Given the description of an element on the screen output the (x, y) to click on. 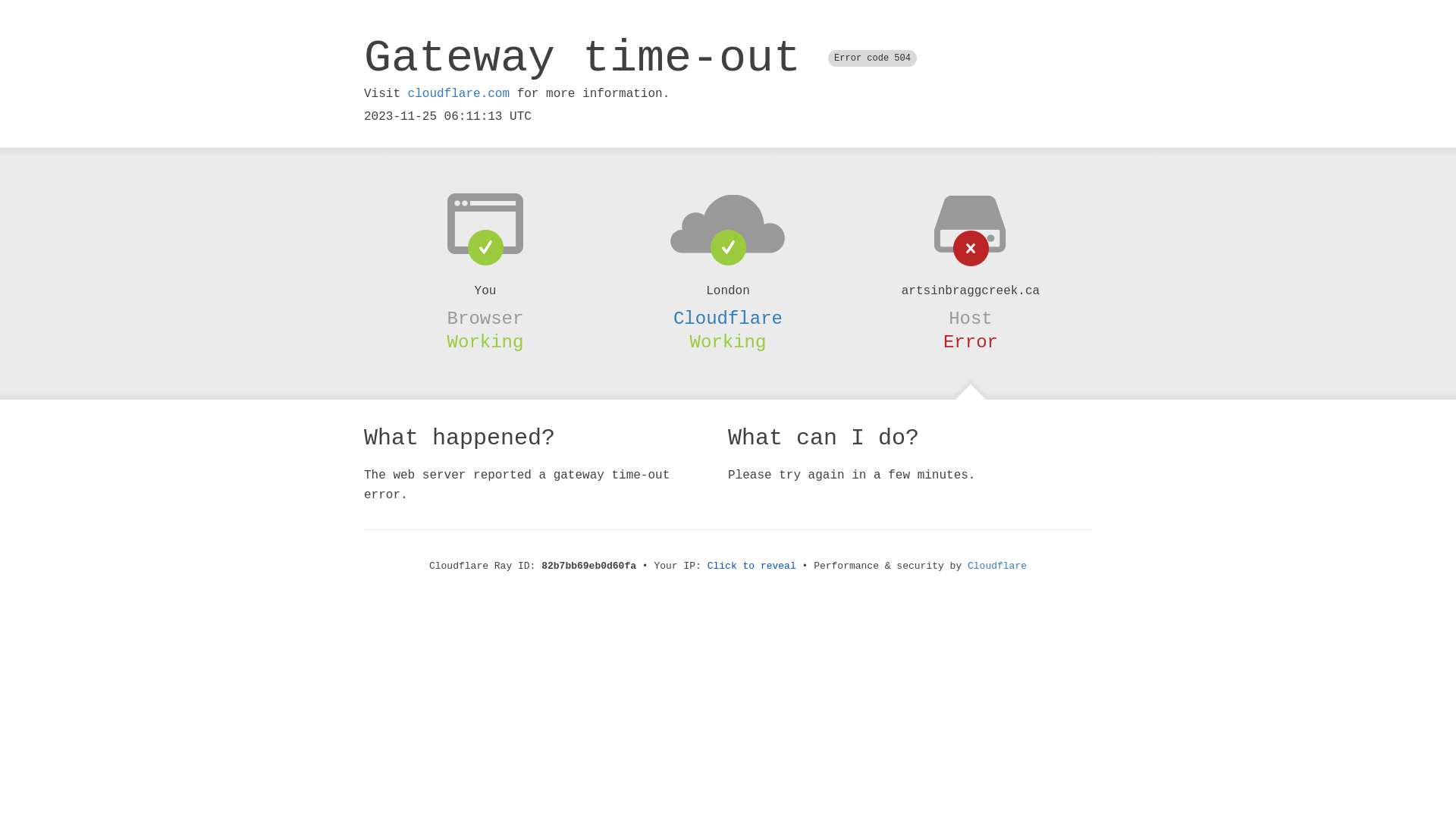
cloudflare.com Element type: text (458, 93)
Cloudflare Element type: text (727, 318)
Click to reveal Element type: text (751, 565)
Cloudflare Element type: text (996, 565)
